Given the description of an element on the screen output the (x, y) to click on. 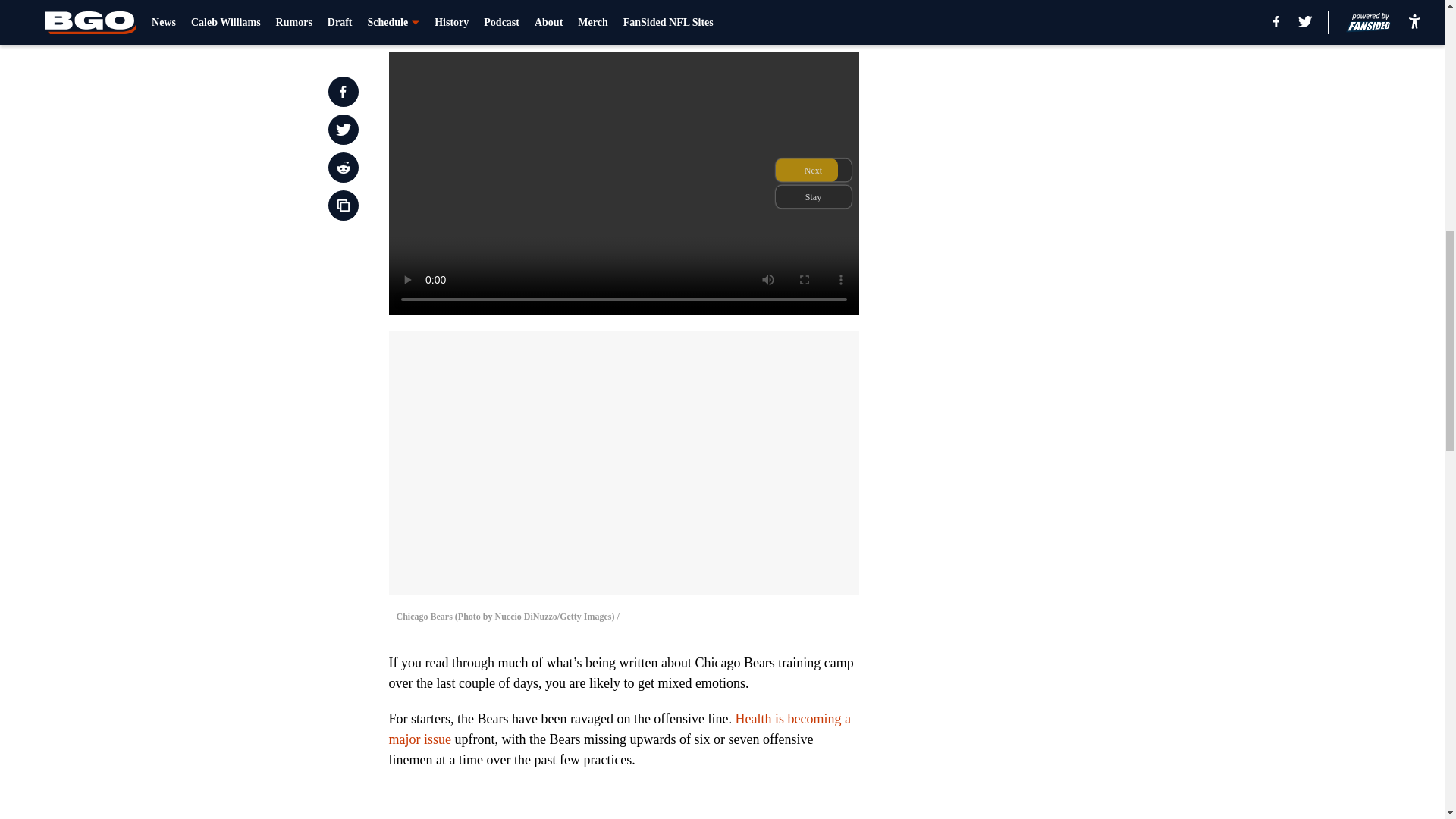
3rd party ad content (1047, 100)
Next (813, 20)
Health is becoming a major issue (619, 728)
Prev (433, 20)
3rd party ad content (1047, 320)
